Given the description of an element on the screen output the (x, y) to click on. 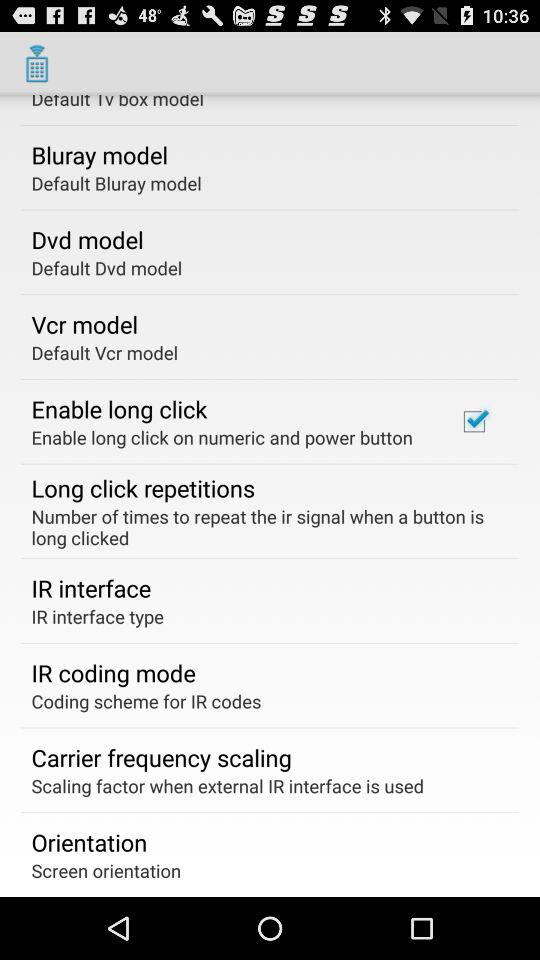
flip to default tv box item (117, 102)
